Given the description of an element on the screen output the (x, y) to click on. 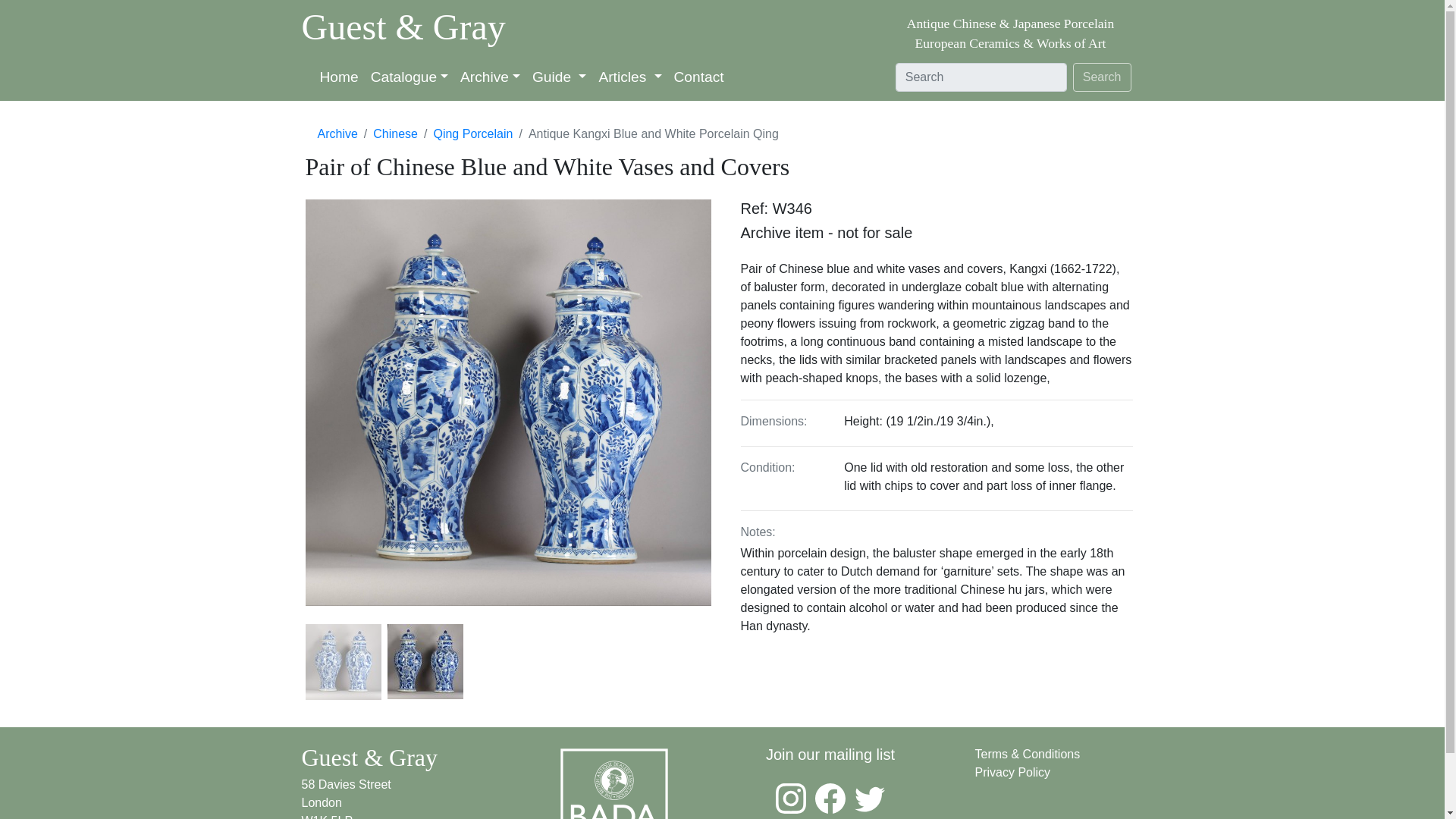
Catalogue (409, 77)
Archive (489, 77)
Home (339, 77)
